Given the description of an element on the screen output the (x, y) to click on. 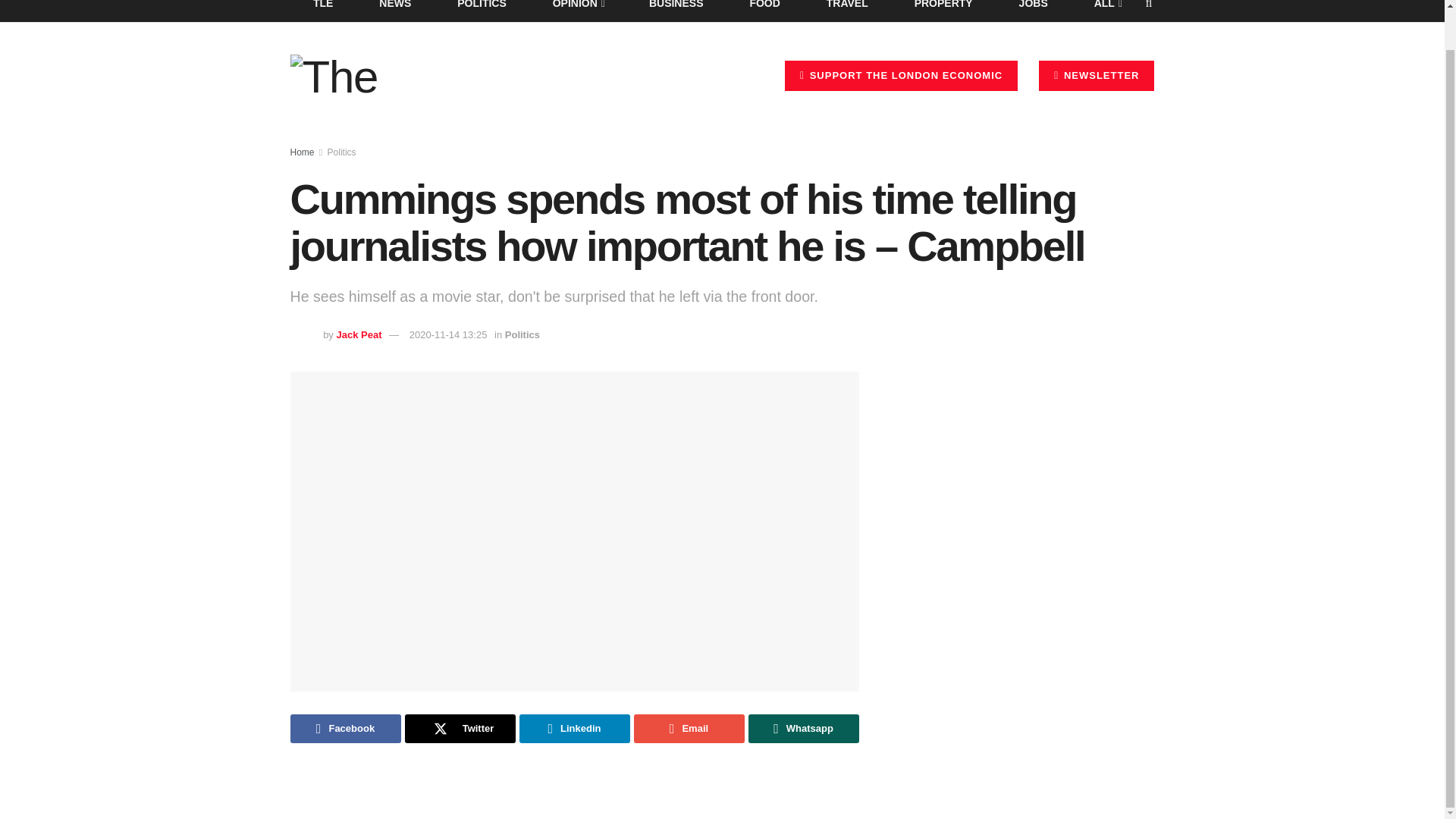
TRAVEL (847, 11)
JOBS (1032, 11)
ALL (1106, 11)
PROPERTY (943, 11)
SUPPORT THE LONDON ECONOMIC (900, 75)
POLITICS (481, 11)
FOOD (764, 11)
NEWSLETTER (1096, 75)
BUSINESS (676, 11)
Home (301, 152)
